Given the description of an element on the screen output the (x, y) to click on. 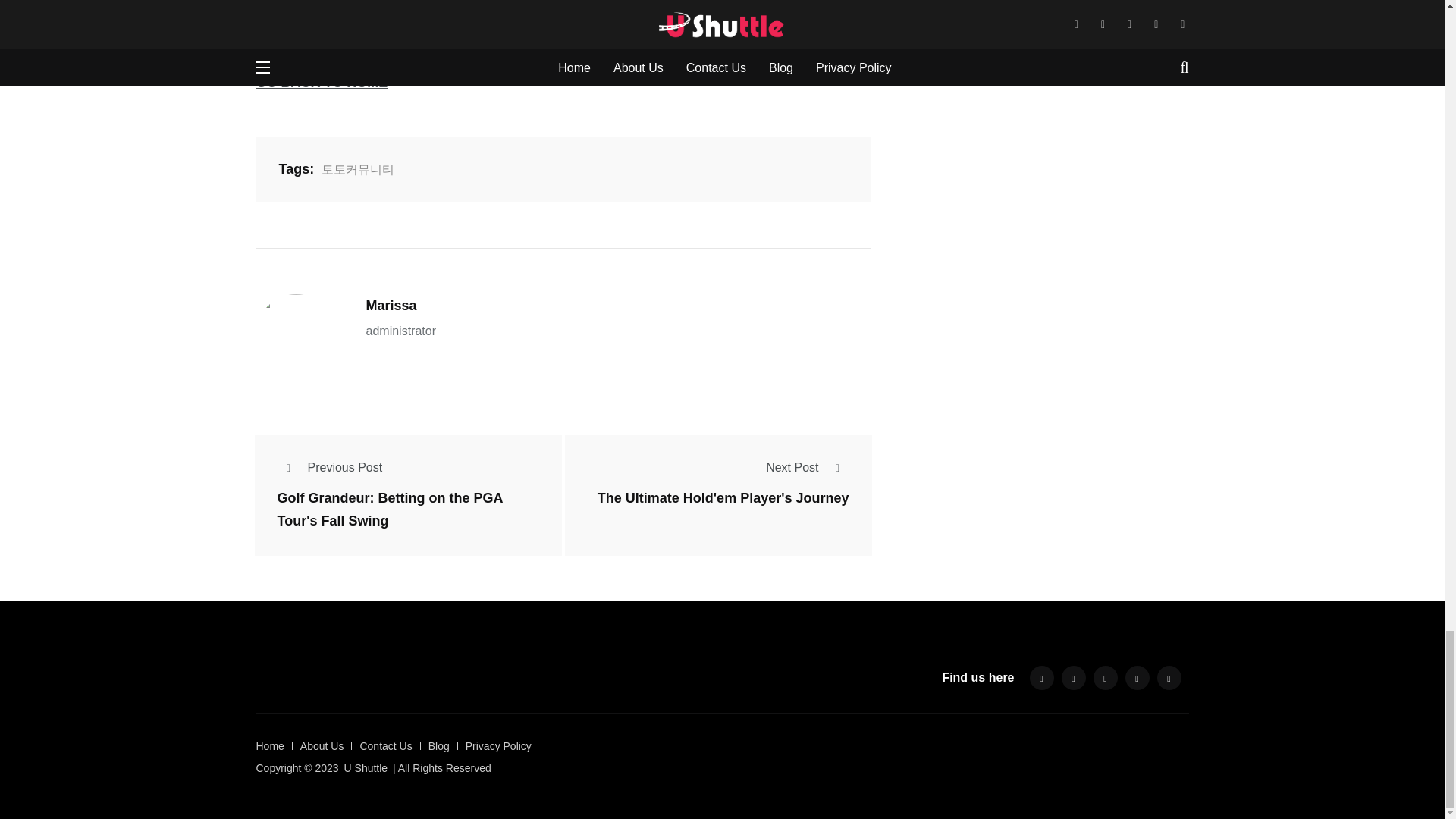
Next Post (806, 467)
Marissa (390, 305)
Posts by Marissa (390, 305)
Previous Post (330, 467)
GO BACK TO HOME (322, 82)
Golf Grandeur: Betting on the PGA Tour's Fall Swing (390, 509)
The Ultimate Hold'em Player's Journey (722, 498)
